Given the description of an element on the screen output the (x, y) to click on. 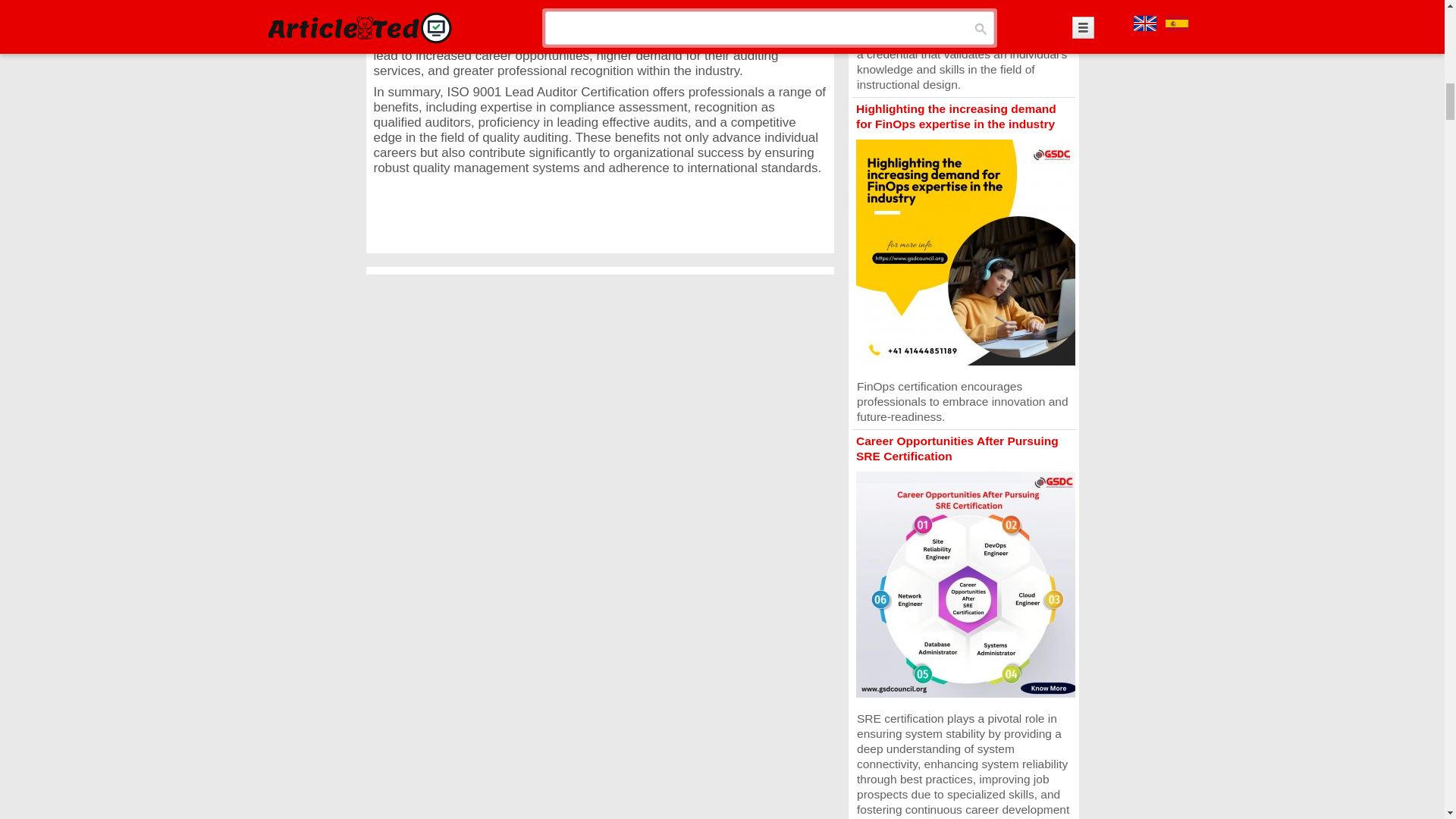
Career Opportunities After Pursuing SRE Certification (957, 448)
